Given the description of an element on the screen output the (x, y) to click on. 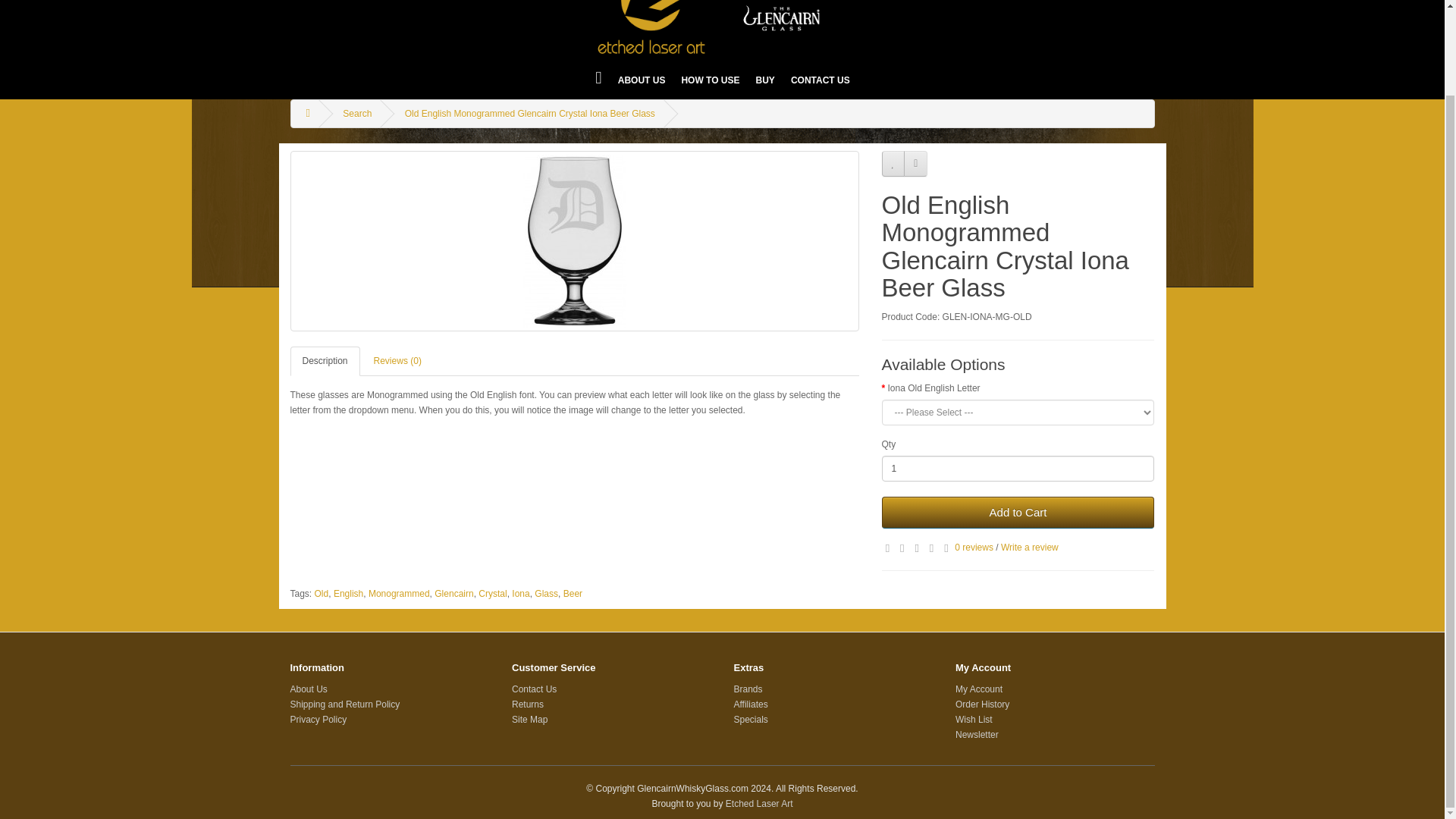
HOW TO USE (709, 80)
BUY (765, 80)
Glencairn (453, 593)
Old English Monogrammed Glencairn Crystal Iona Beer Glass (529, 113)
Monogrammed (398, 593)
ABOUT US (641, 80)
0 reviews (973, 547)
Add to Cart (1017, 512)
Etched Laser Art (722, 27)
1 (1017, 468)
CONTACT US (820, 80)
English (347, 593)
Search (356, 113)
Old (321, 593)
Description (324, 360)
